Given the description of an element on the screen output the (x, y) to click on. 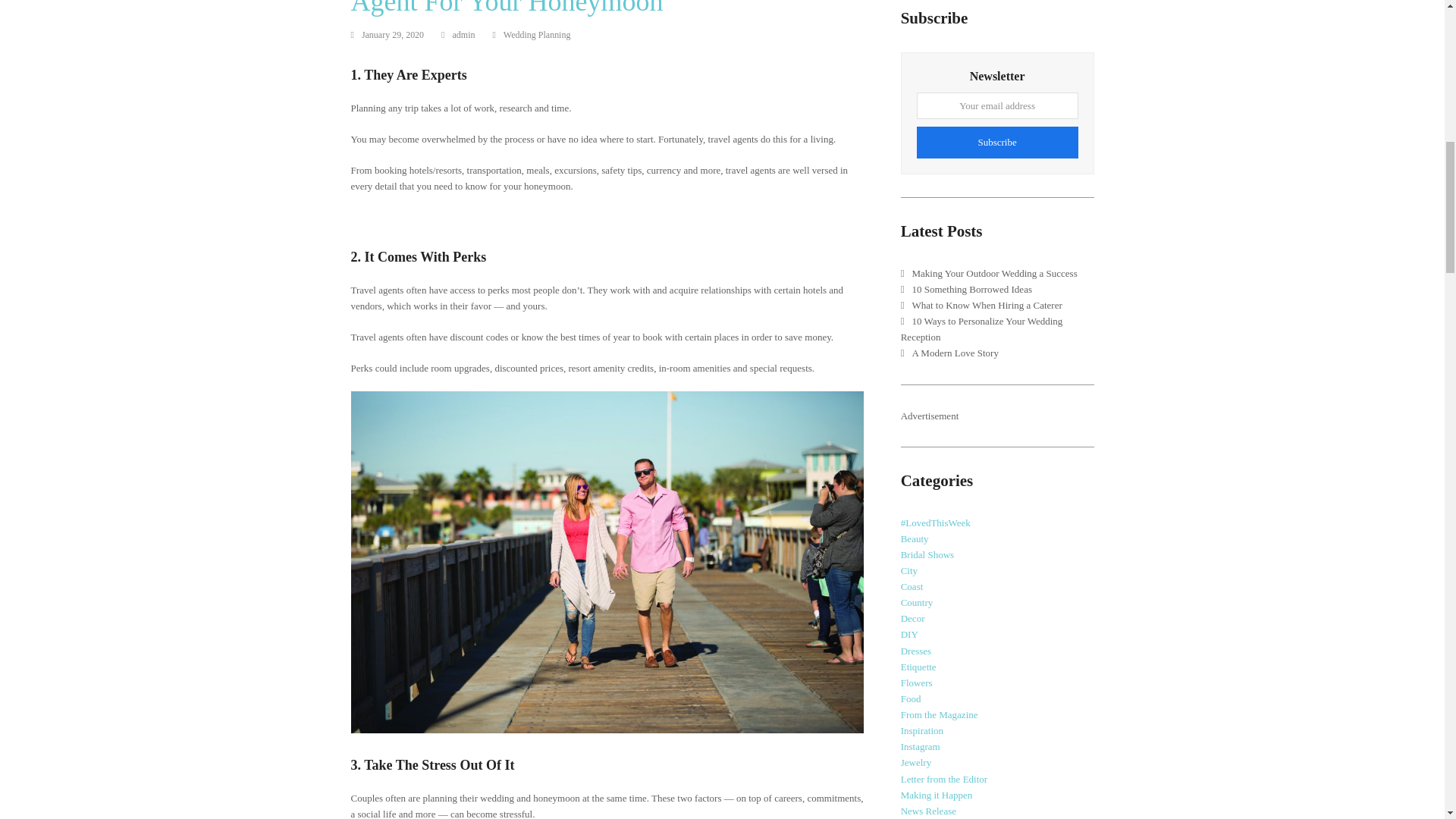
Wedding Planning (536, 34)
admin (462, 34)
Posts by admin (462, 34)
